Given the description of an element on the screen output the (x, y) to click on. 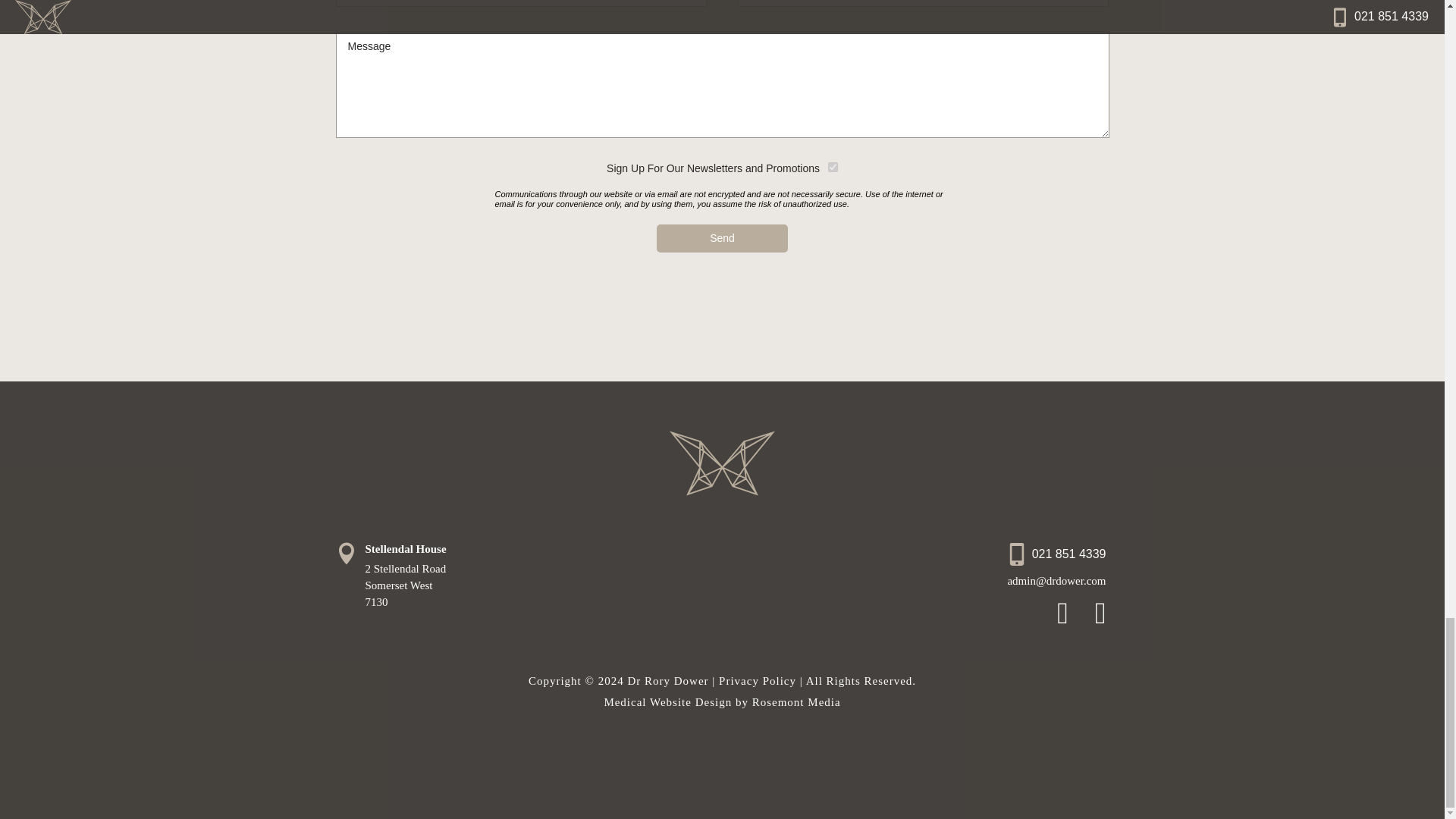
Send (721, 238)
true (833, 166)
